Given the description of an element on the screen output the (x, y) to click on. 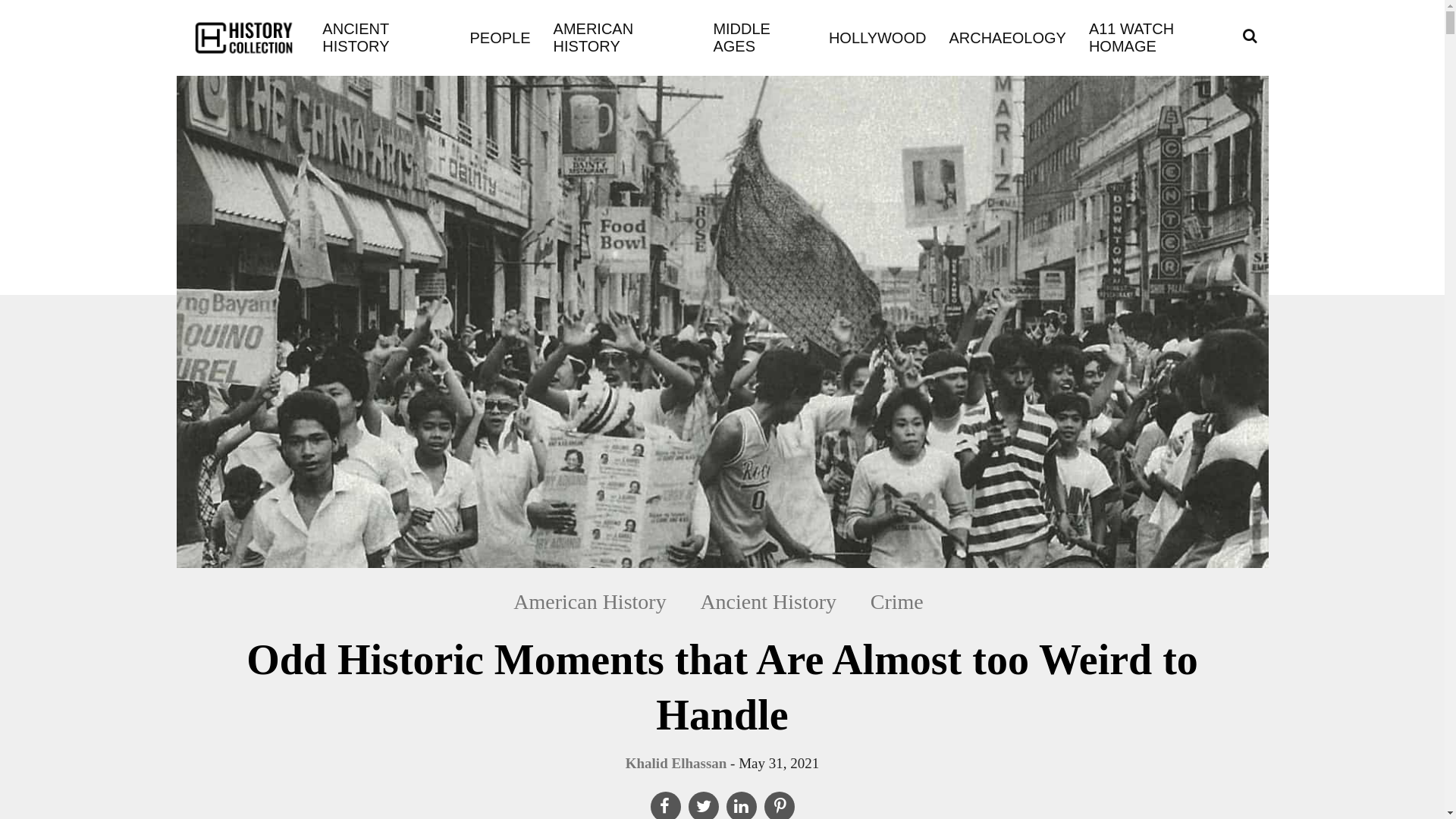
HOLLYWOOD (877, 36)
A11 WATCH HOMAGE (1160, 37)
Crime (897, 601)
PEOPLE (500, 36)
AMERICAN HISTORY (622, 37)
Khalid Elhassan (676, 763)
ANCIENT HISTORY (384, 37)
MIDDLE AGES (758, 37)
Ancient History (767, 601)
ARCHAEOLOGY (1006, 36)
American History (597, 601)
